Given the description of an element on the screen output the (x, y) to click on. 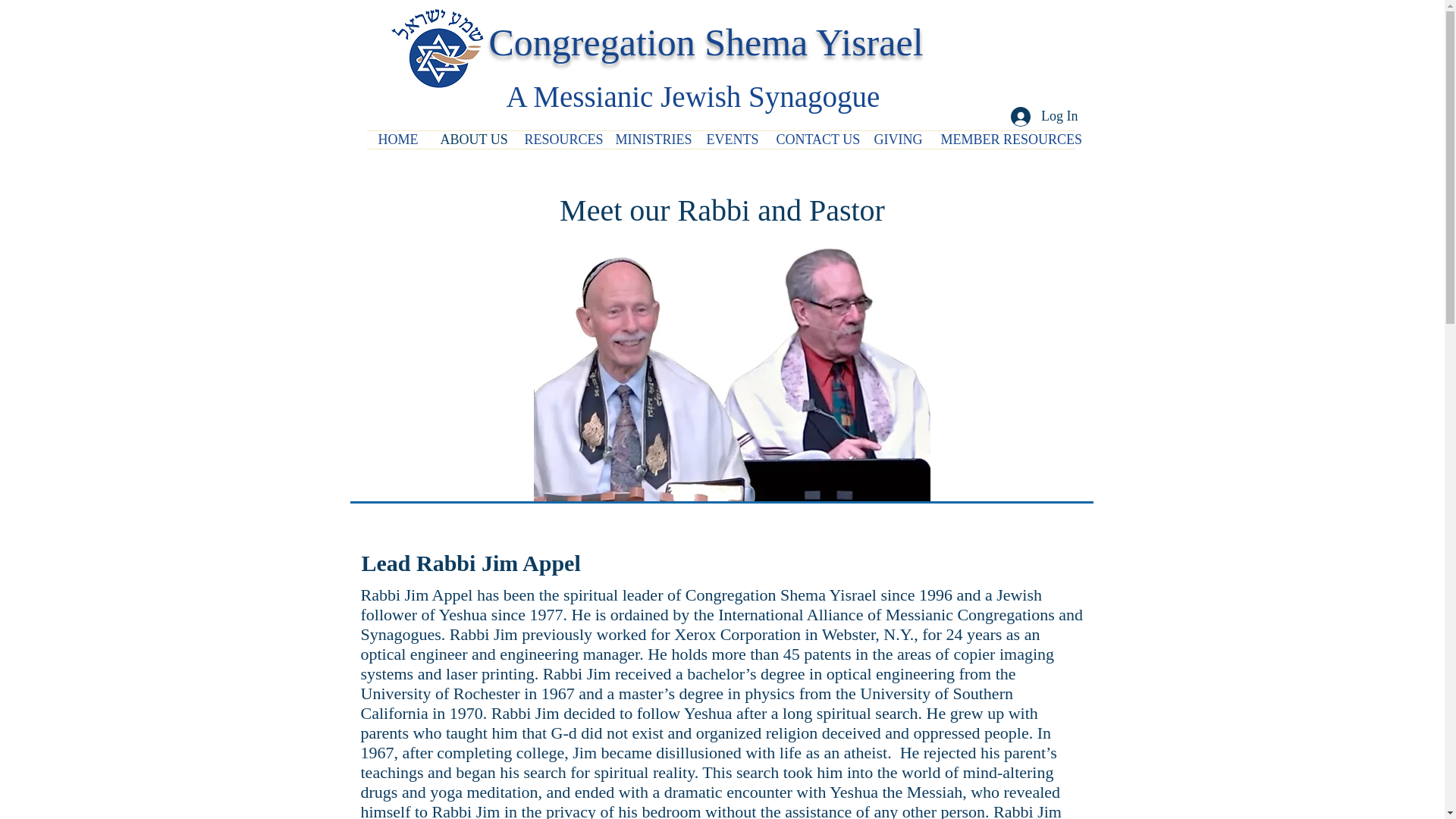
Congregation Shema Yisrael (705, 42)
A Messianic Jewish Synagogue (693, 96)
ABOUT US (471, 139)
MEMBER RESOURCES (1002, 139)
RESOURCES (558, 139)
HOME (397, 139)
dad1.jpg (732, 340)
GIVING (896, 139)
CONTACT US (812, 139)
Log In (1044, 115)
